Given the description of an element on the screen output the (x, y) to click on. 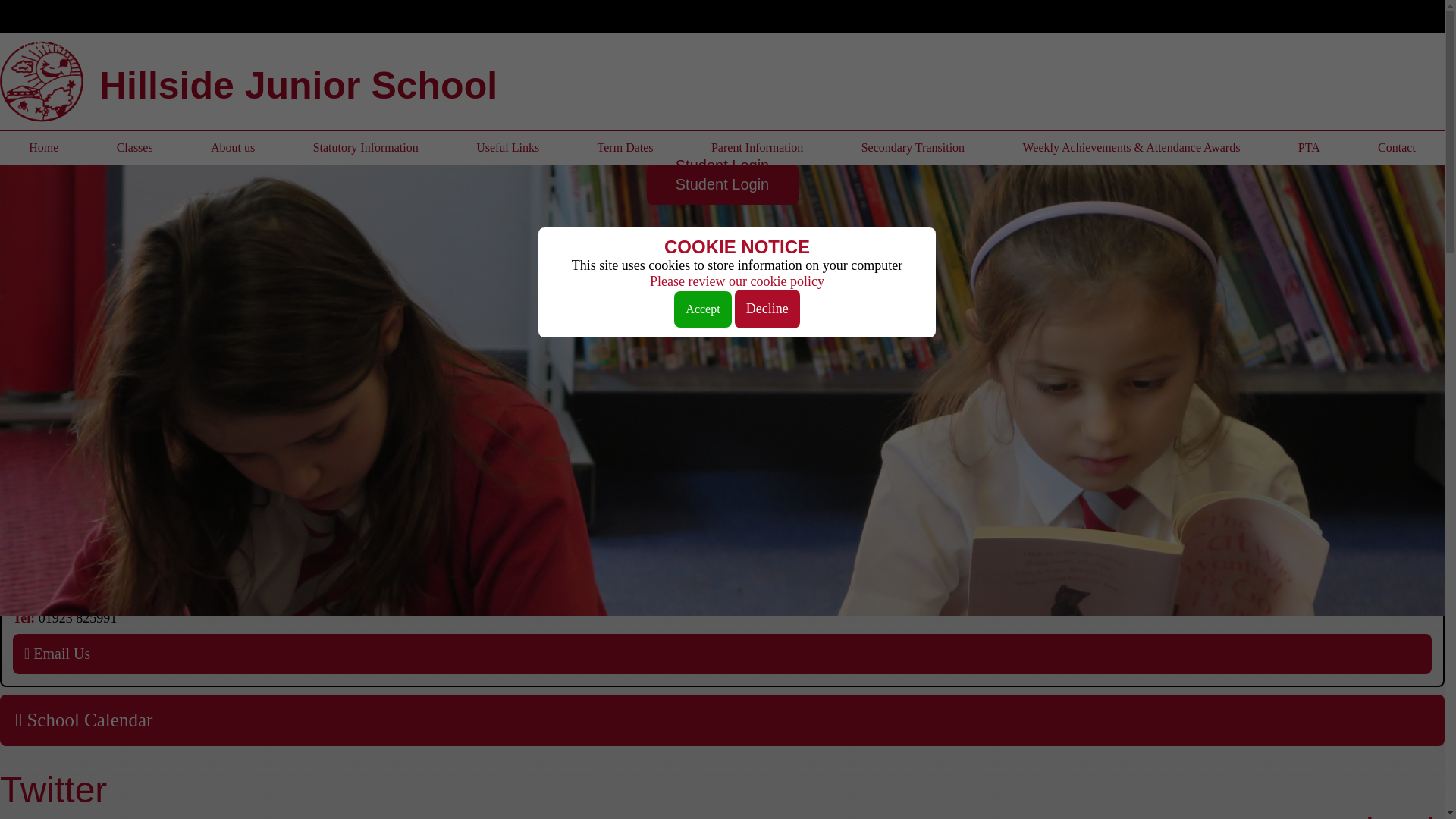
Parent Information (757, 147)
Term Dates (624, 147)
Useful Links (506, 147)
Decline (767, 308)
Classes (133, 147)
Please review our cookie policy (736, 281)
Statutory Information (364, 147)
Home (43, 147)
About us (232, 147)
